Given the description of an element on the screen output the (x, y) to click on. 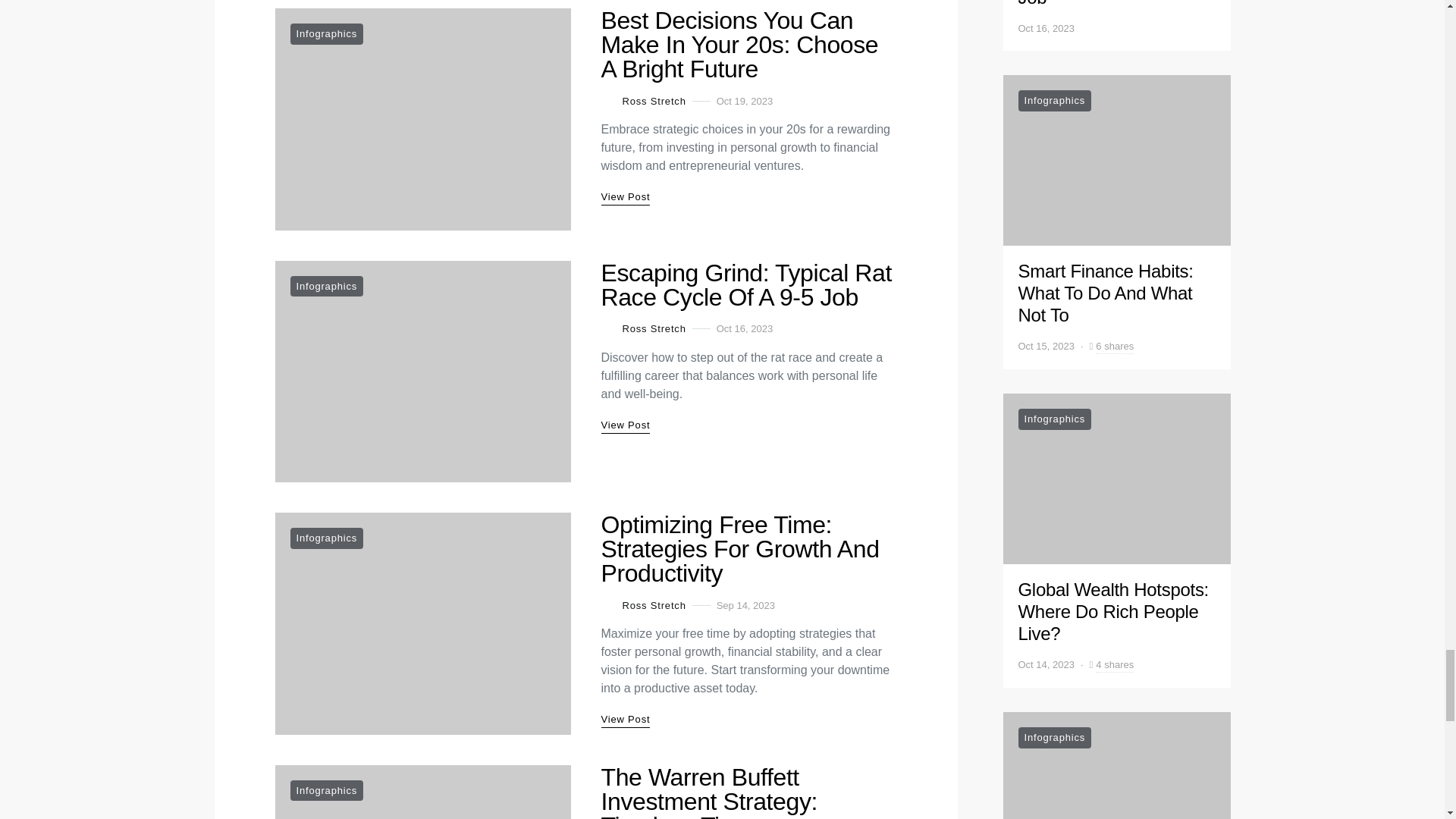
View all posts by Ross Stretch (642, 328)
View all posts by Ross Stretch (642, 100)
